Given the description of an element on the screen output the (x, y) to click on. 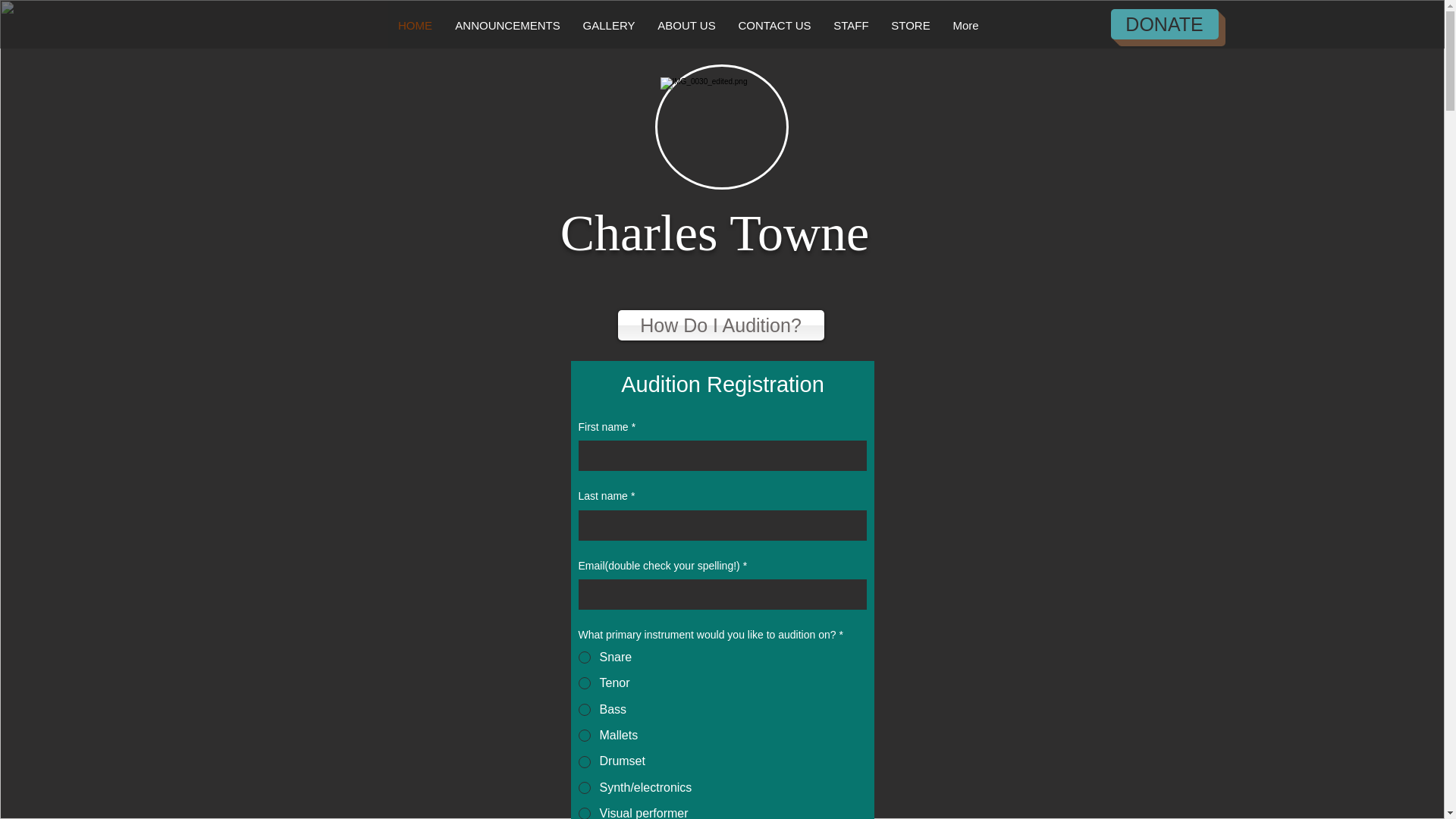
CONTACT US (774, 25)
STORE (909, 25)
DONATE (1163, 24)
How Do I Audition? (720, 325)
